Given the description of an element on the screen output the (x, y) to click on. 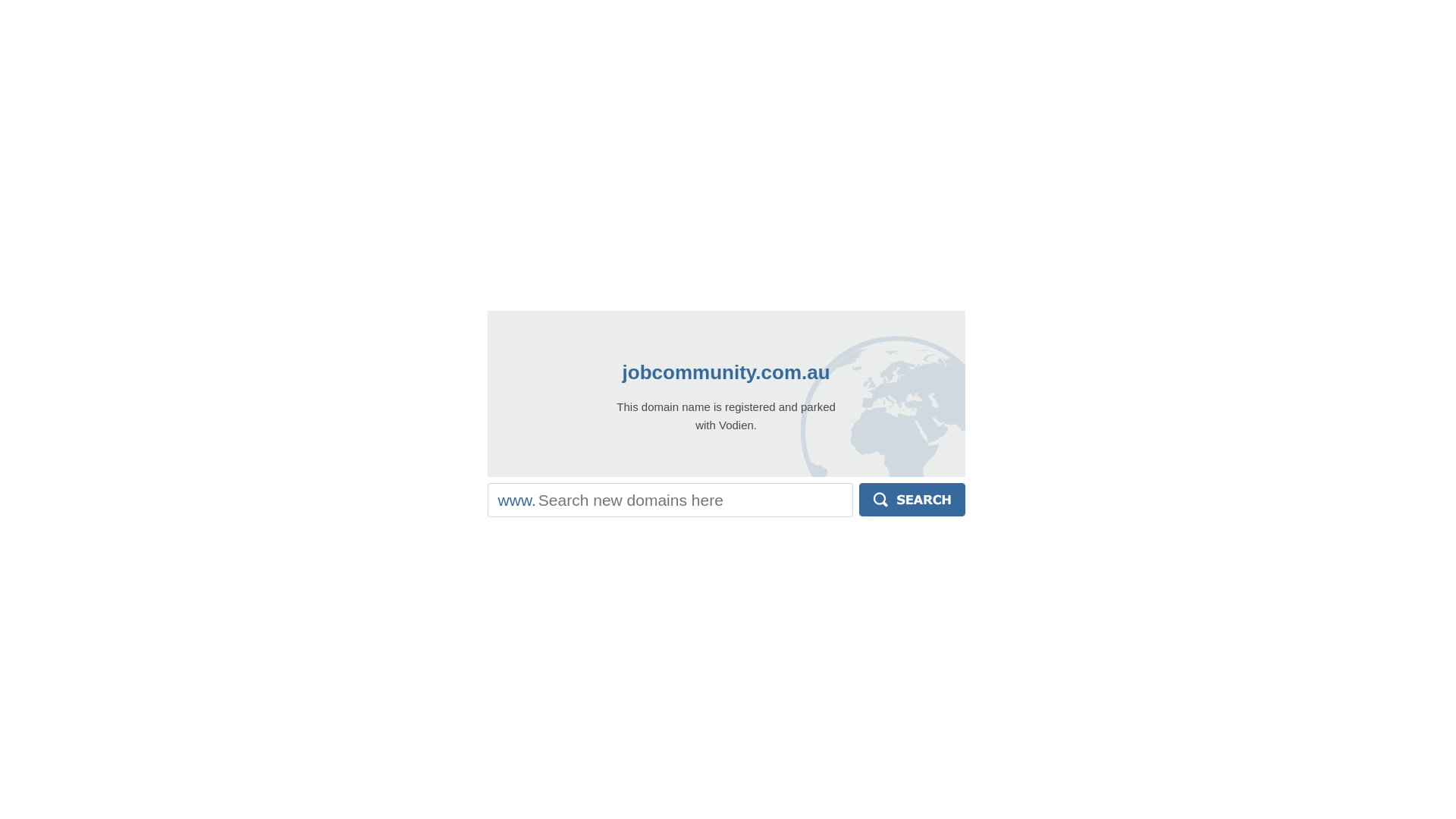
Search Element type: text (912, 499)
